Given the description of an element on the screen output the (x, y) to click on. 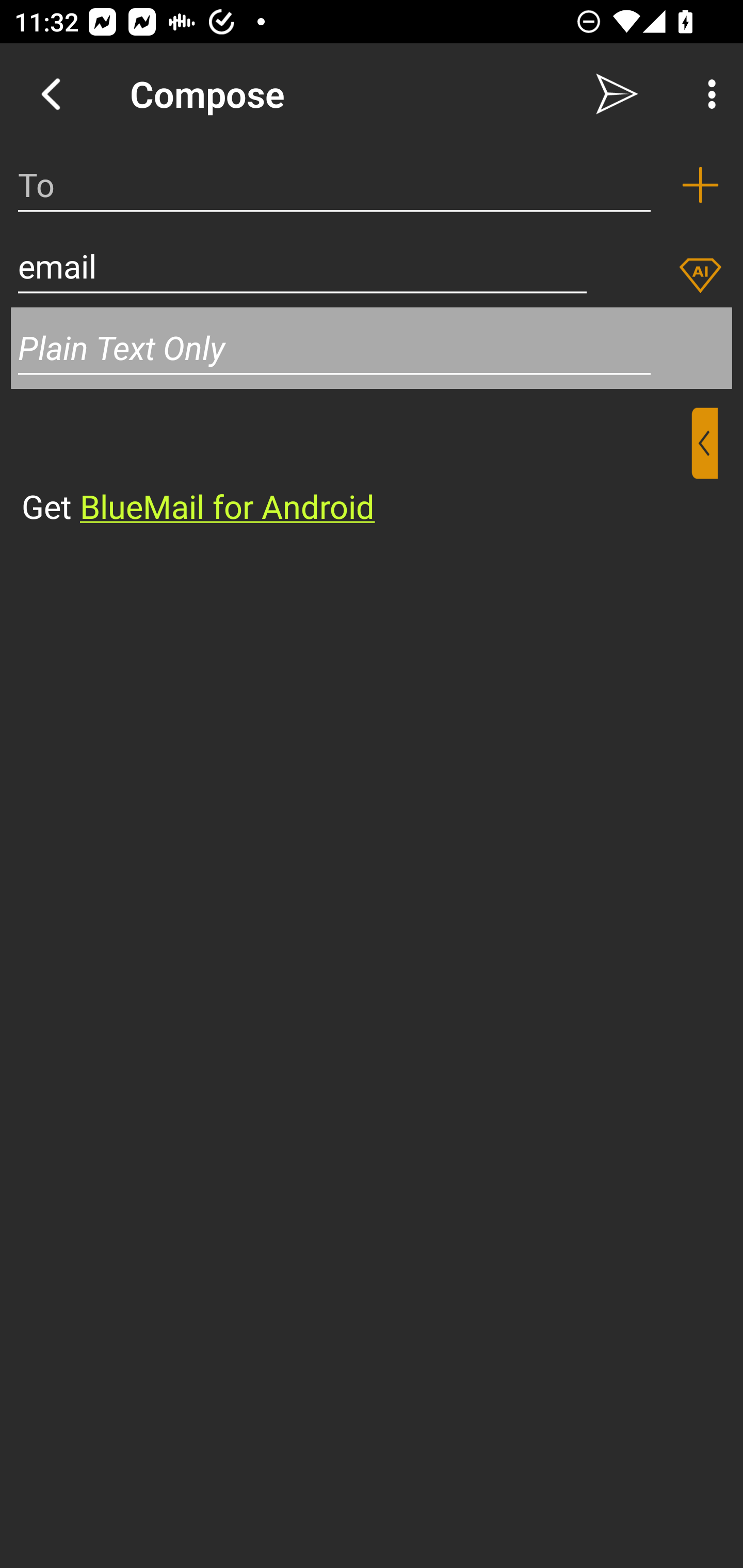
Navigate up (50, 93)
Send (616, 93)
More Options (706, 93)
To (334, 184)
Add recipient (To) (699, 184)
email (302, 266)
Plain Text Only (371, 347)


⁣Get BlueMail for Android ​ (355, 468)
